Given the description of an element on the screen output the (x, y) to click on. 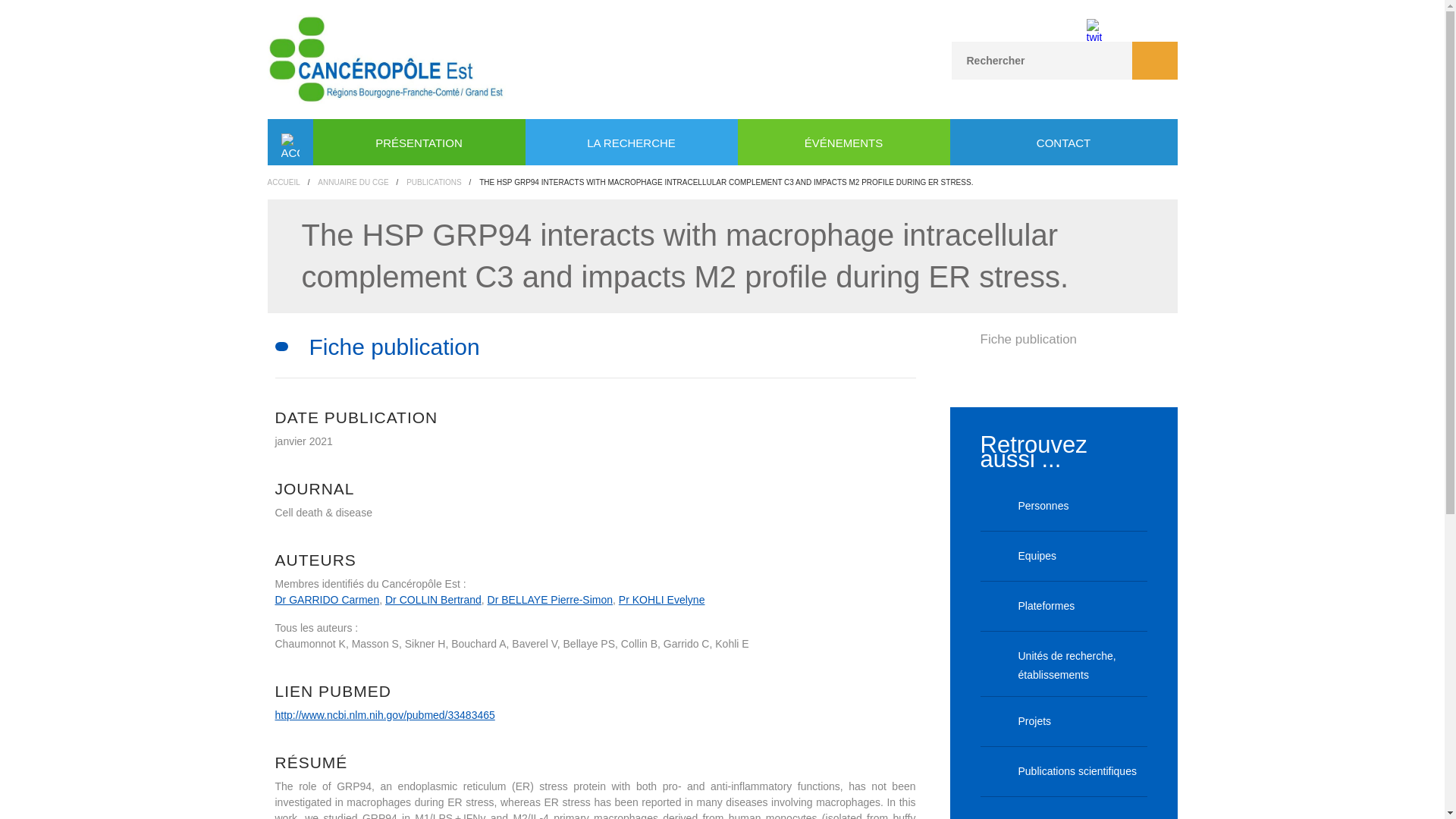
PUBLICATIONS (433, 182)
Dr COLLIN Bertrand (433, 599)
LA RECHERCHE (630, 142)
linkedin (1123, 26)
Fiche publication (1028, 339)
youtube (1062, 26)
ACCUEIL (282, 182)
ANNUAIRE DU CGE (352, 182)
CONTACT (1062, 142)
Dr GARRIDO Carmen (326, 599)
twitter (1093, 26)
